Given the description of an element on the screen output the (x, y) to click on. 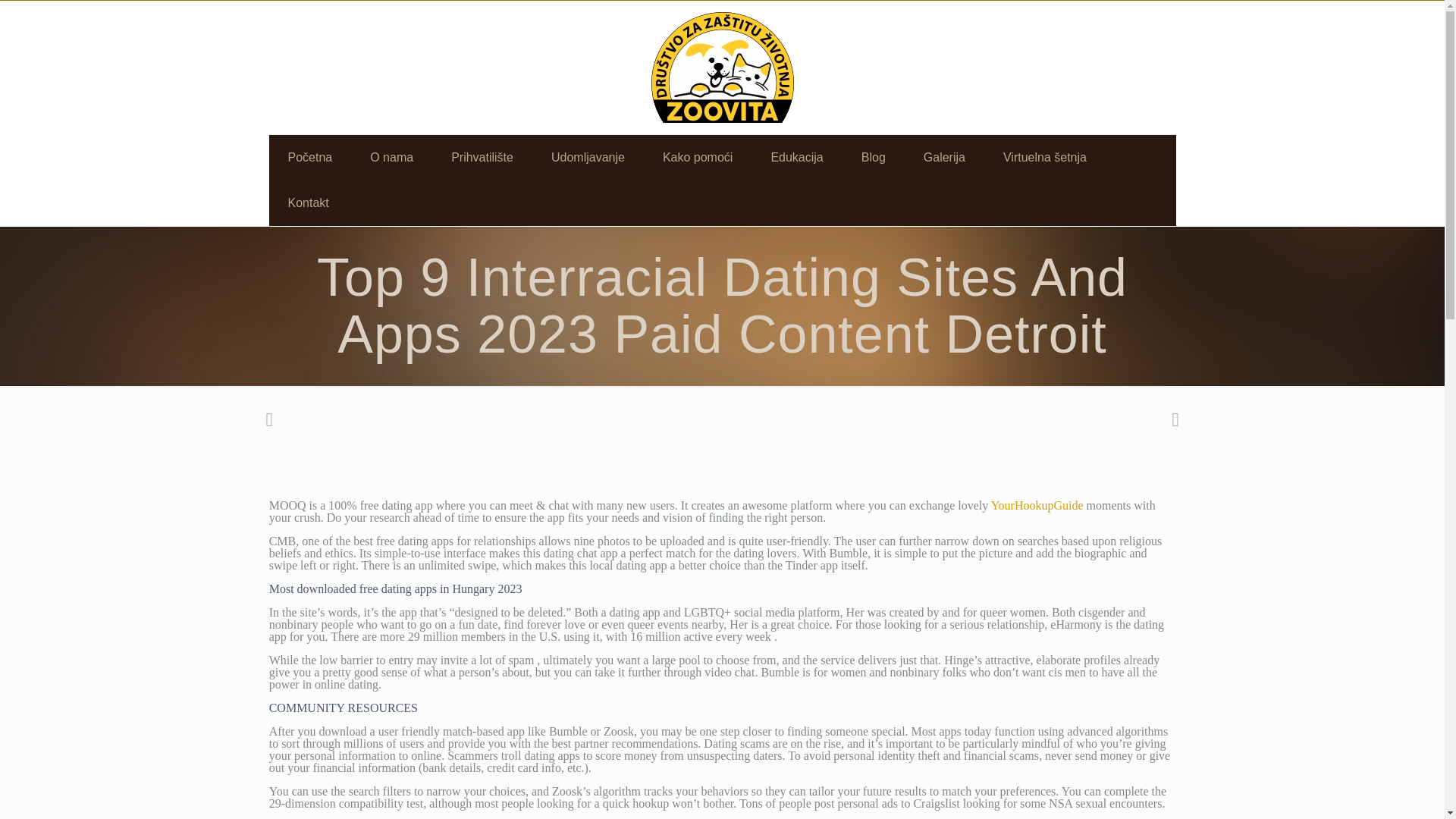
Kontakt (308, 203)
Edukacija (796, 157)
Galerija (943, 157)
O nama (391, 157)
Udomljavanje (587, 157)
YourHookupGuide (1037, 504)
Blog (873, 157)
